Given the description of an element on the screen output the (x, y) to click on. 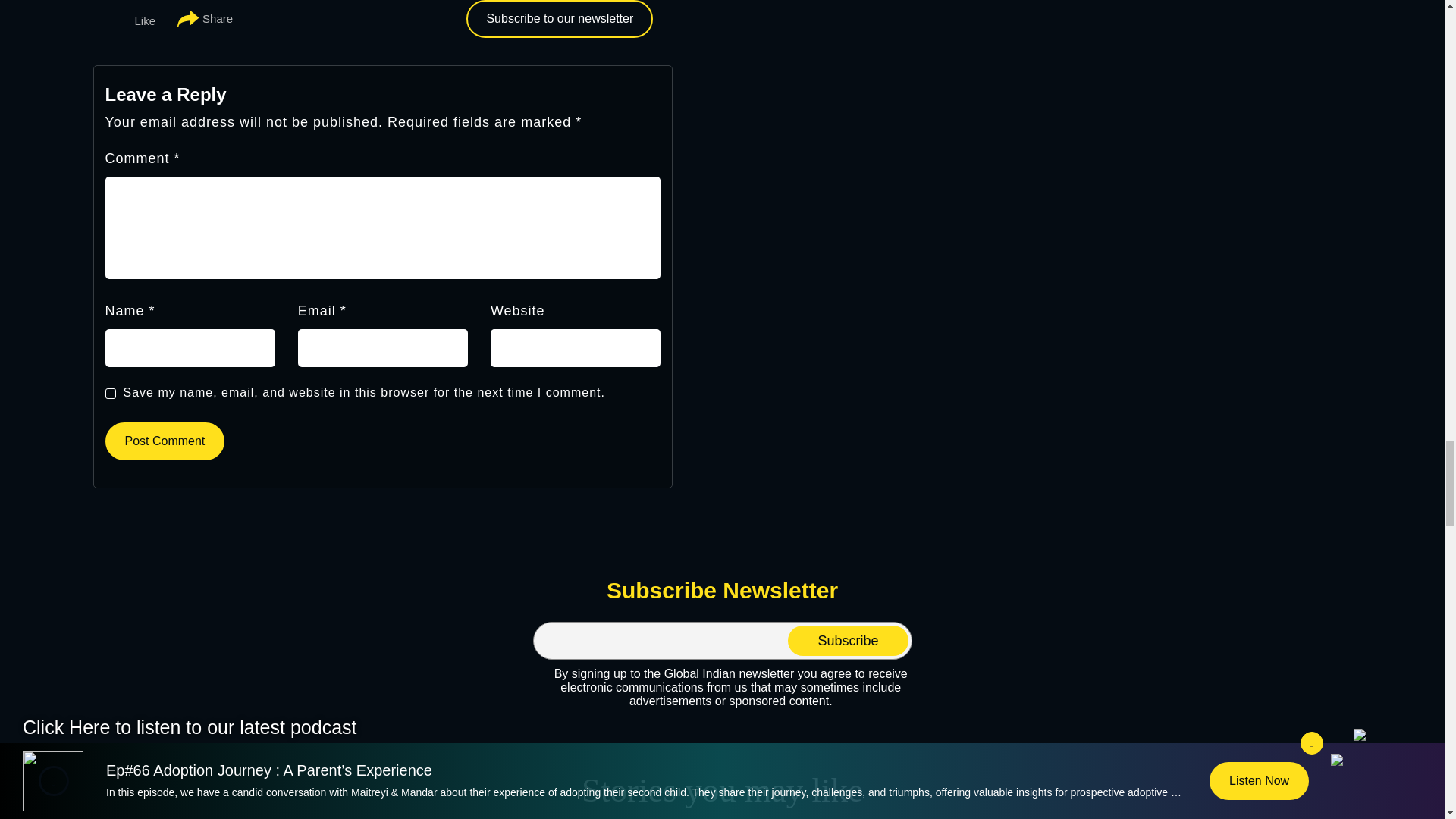
Subscribe (847, 640)
Subscribe to our newsletter (558, 18)
Post Comment (164, 441)
Post Comment (164, 441)
